Given the description of an element on the screen output the (x, y) to click on. 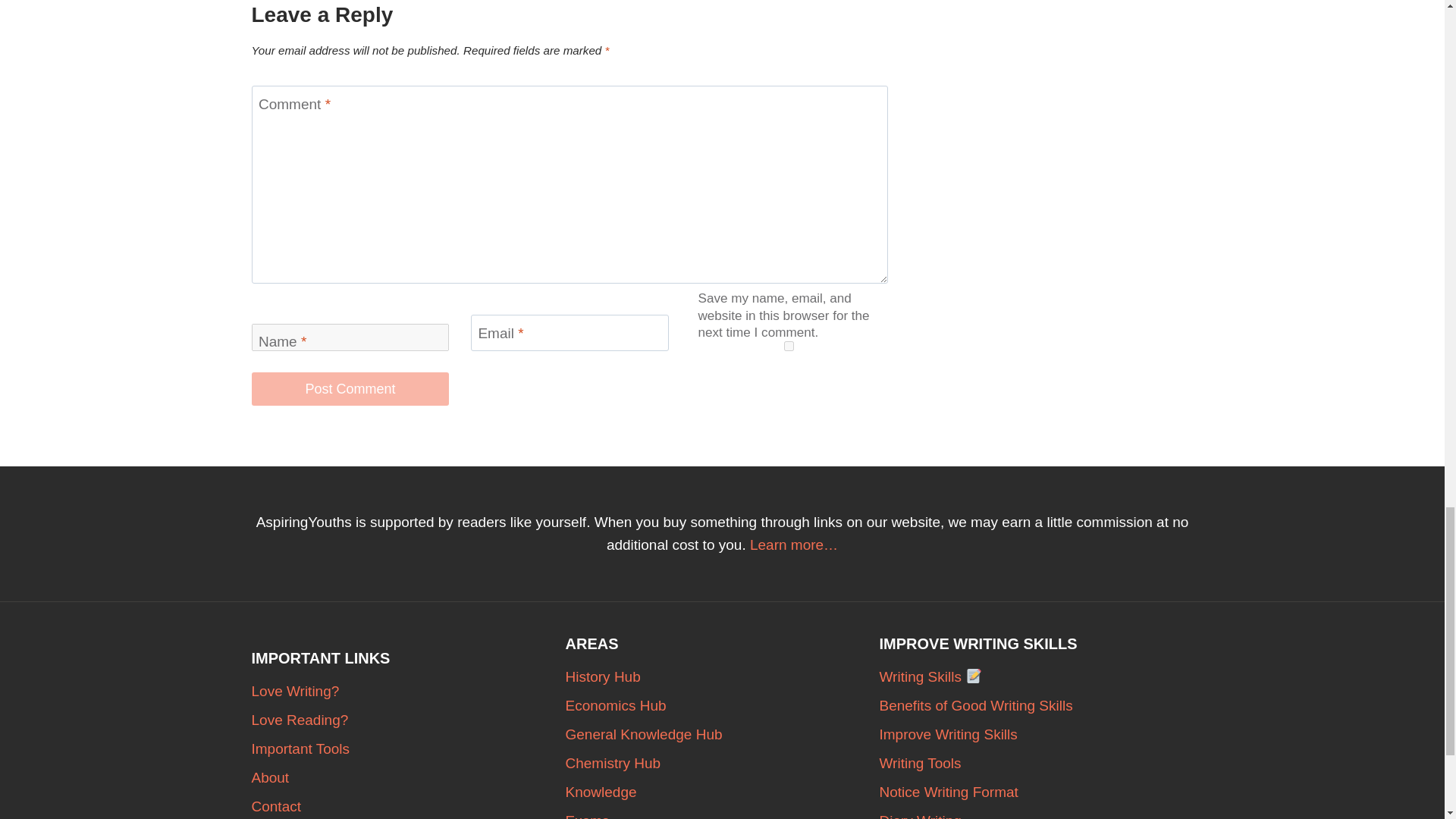
General Knowledge Hub (722, 734)
Important Tools (408, 748)
Economics Hub (722, 705)
Love Writing? (408, 691)
Post Comment (350, 388)
Post Comment (350, 388)
Love Reading? (408, 719)
About (408, 777)
Contact (408, 805)
History Hub (722, 676)
Knowledge (722, 792)
Chemistry Hub (722, 763)
yes (789, 346)
